Given the description of an element on the screen output the (x, y) to click on. 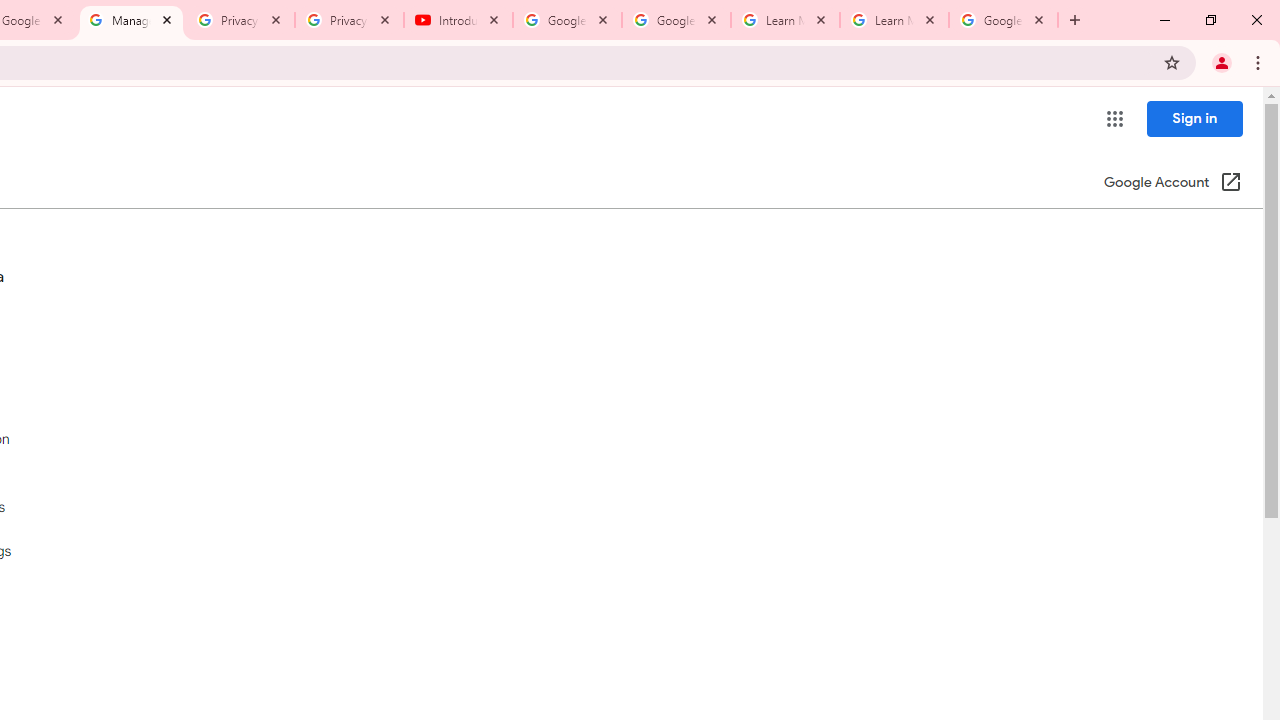
Google Account (1003, 20)
Introduction | Google Privacy Policy - YouTube (458, 20)
Google Account Help (567, 20)
Google Account Help (676, 20)
